Given the description of an element on the screen output the (x, y) to click on. 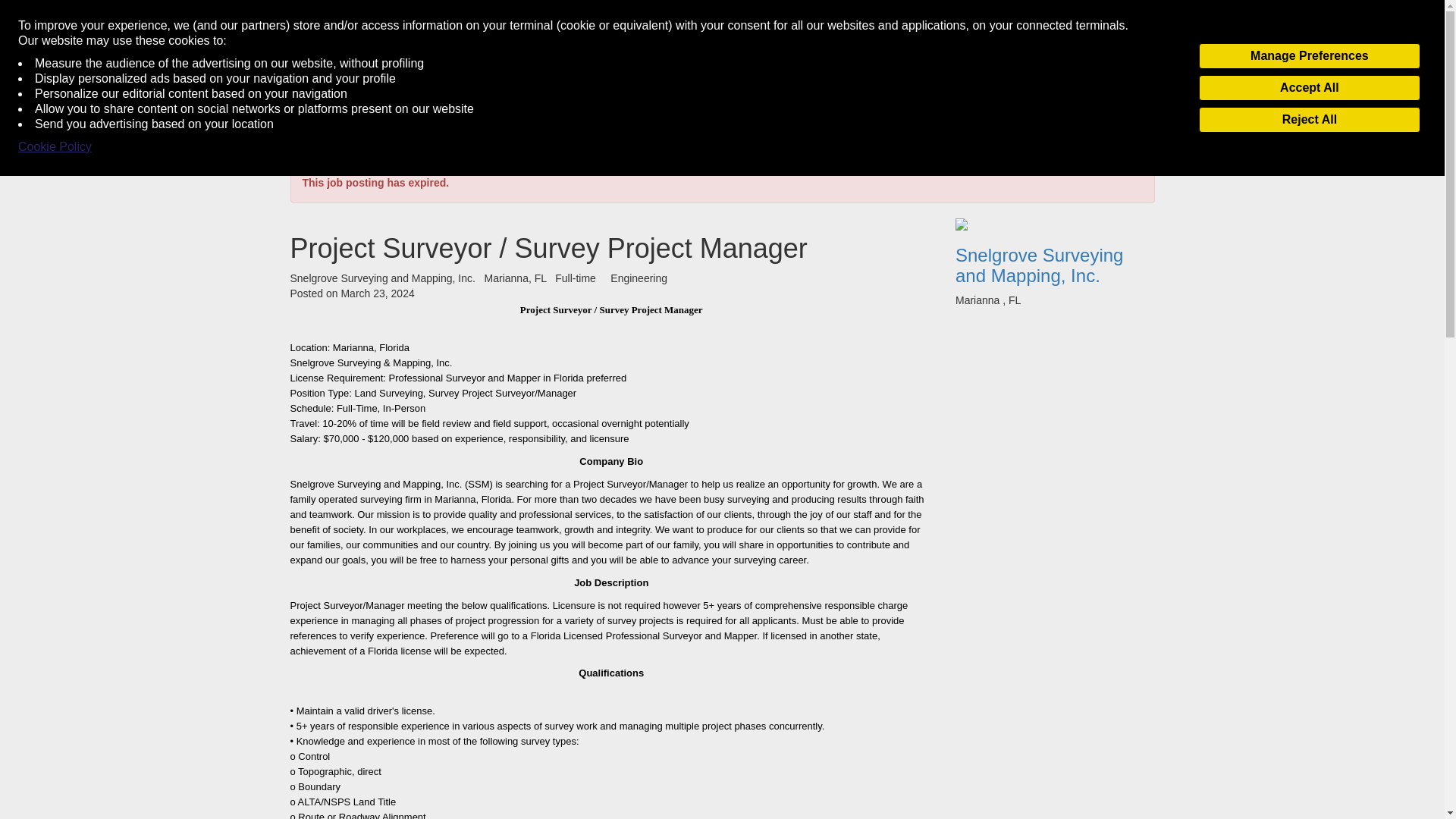
Jobs (336, 127)
Snelgrove Surveying and Mapping, Inc. (1054, 262)
Employer Login (1032, 127)
Manage Preferences (1309, 55)
Cookie Policy (54, 146)
Accept All (1309, 87)
Back to Results (325, 155)
Post a Job (1117, 127)
Get Job Alerts (405, 127)
Reject All (1309, 119)
